Given the description of an element on the screen output the (x, y) to click on. 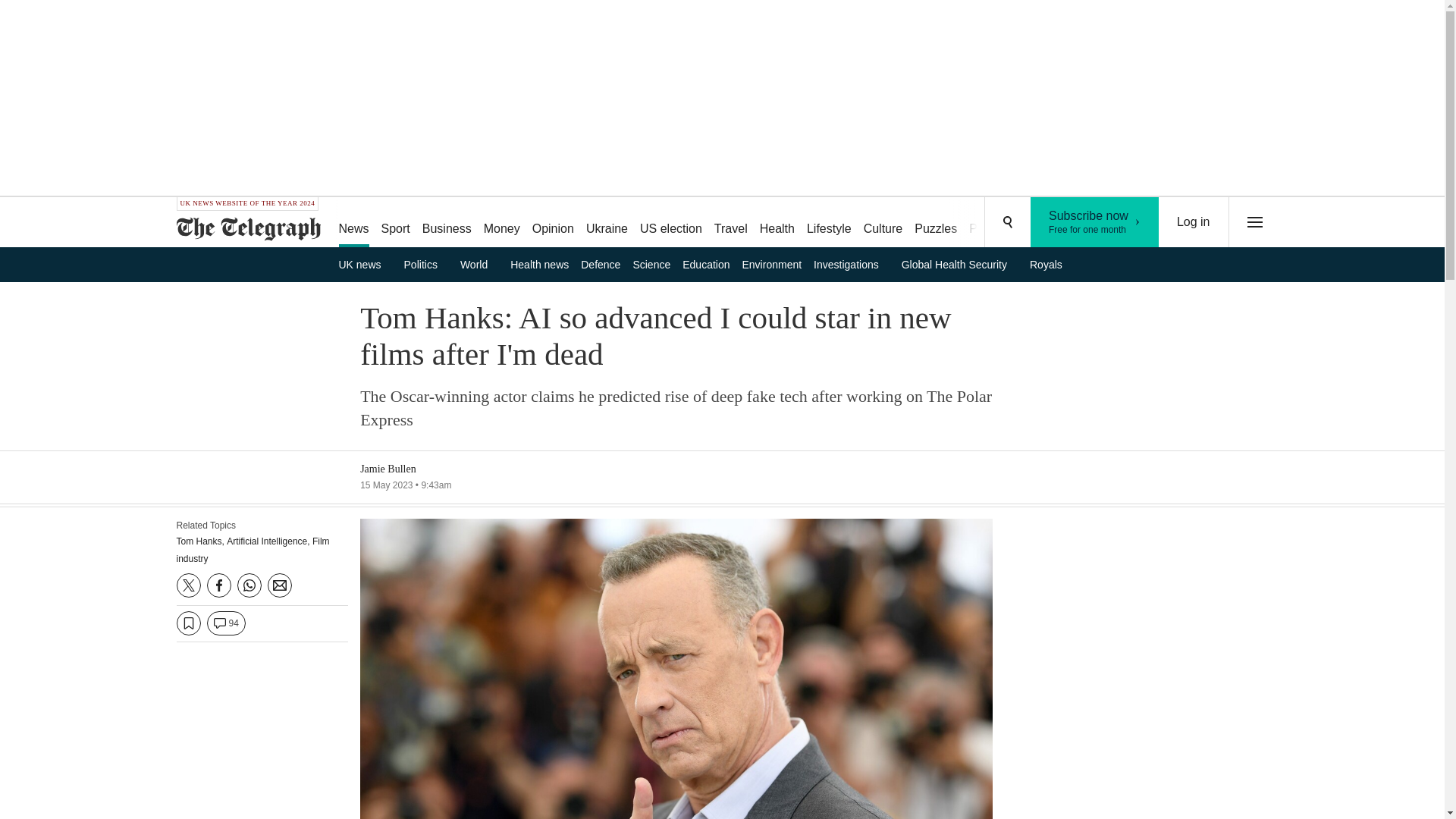
World (478, 264)
Ukraine (1094, 222)
Log in (606, 223)
Health (1193, 222)
Money (777, 223)
Puzzles (501, 223)
Culture (935, 223)
Politics (882, 223)
Business (425, 264)
